Given the description of an element on the screen output the (x, y) to click on. 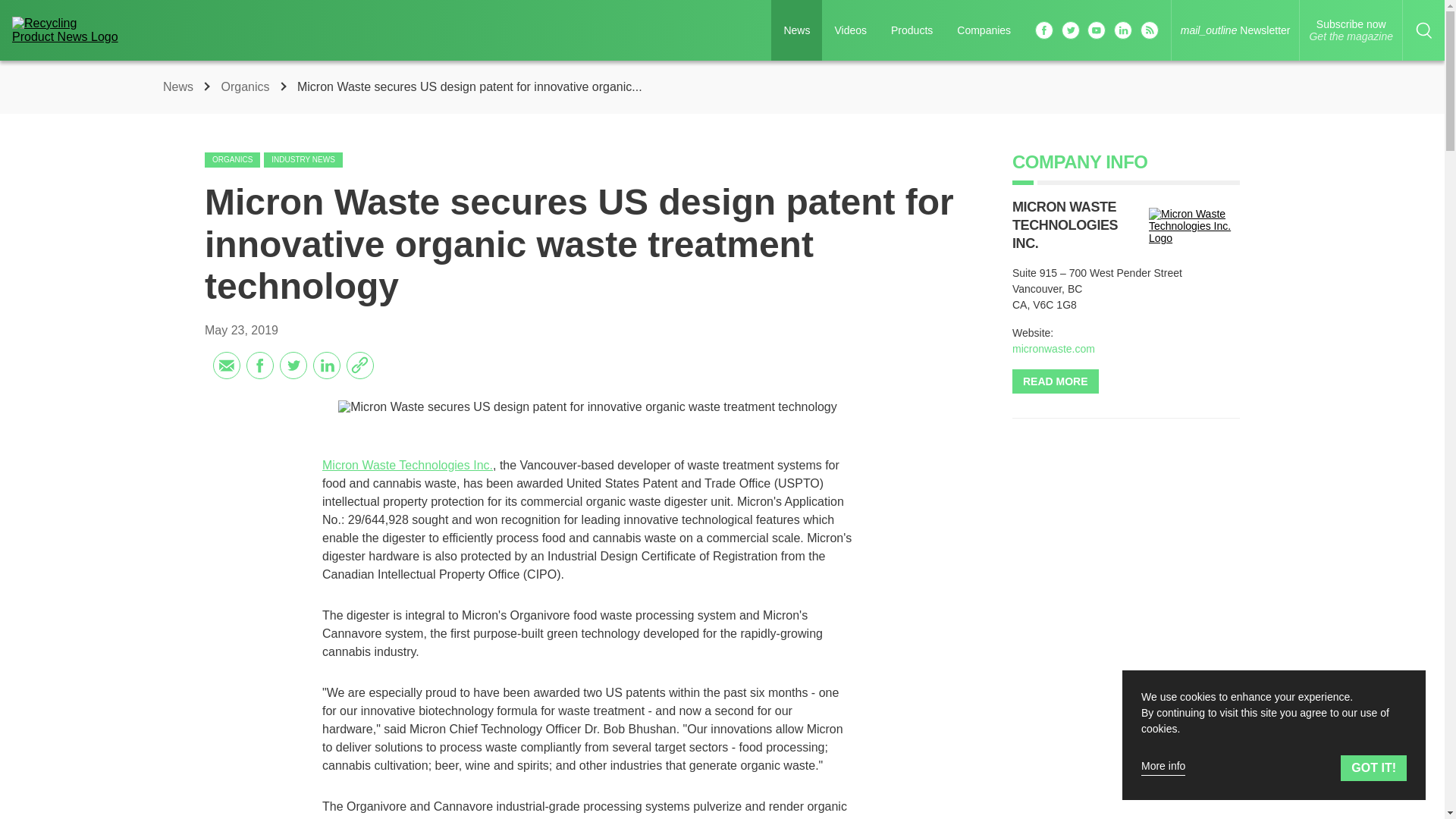
READ MORE (1055, 381)
Organics (246, 86)
MICRON WASTE TECHNOLOGIES INC. (1064, 224)
News (179, 86)
micronwaste.com (1052, 348)
Micron Waste Technologies Inc. (407, 464)
INDUSTRY NEWS (302, 159)
Products (911, 30)
Micron Waste Technologies Inc. (1194, 226)
